Given the description of an element on the screen output the (x, y) to click on. 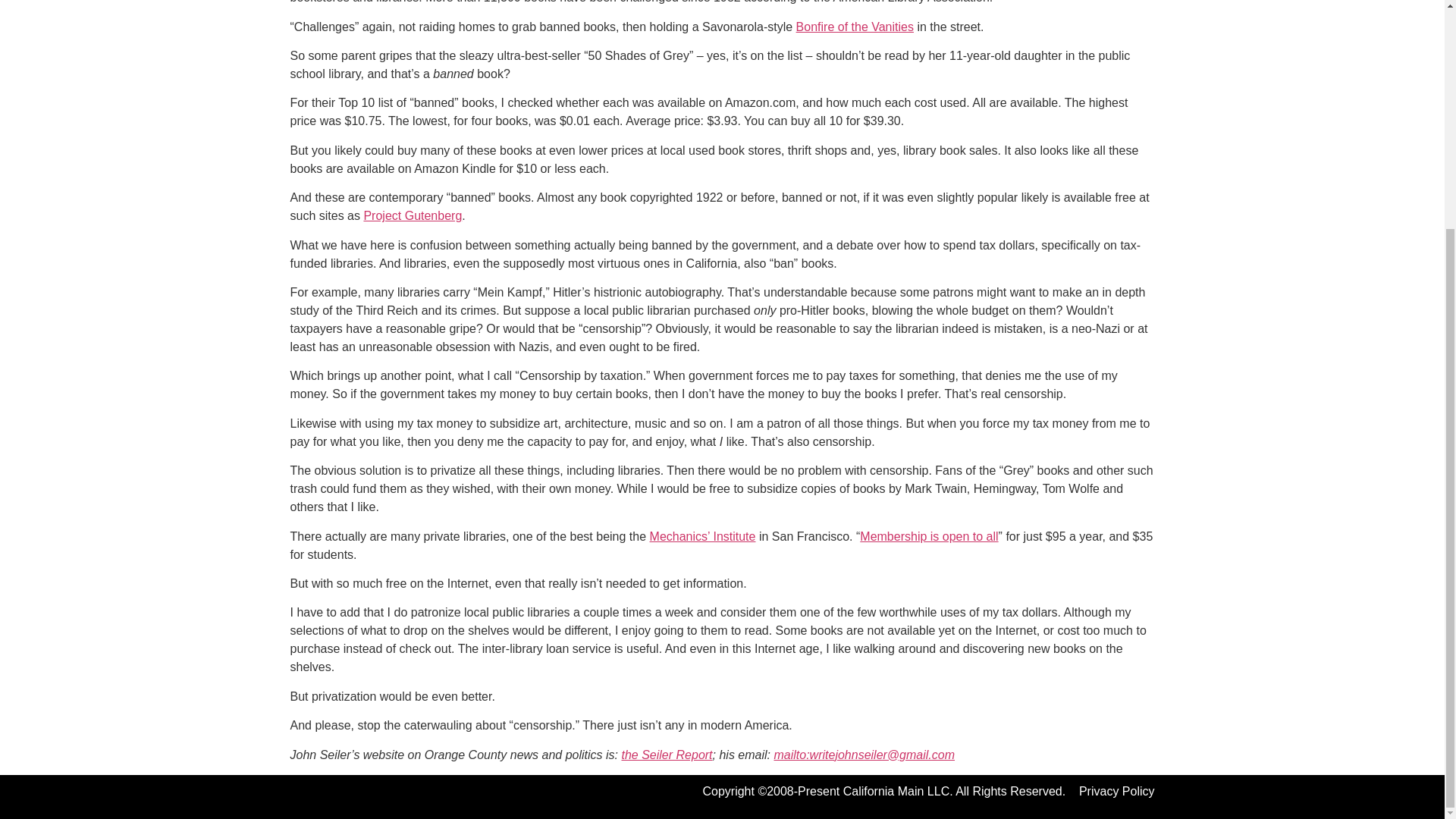
Bonfire of the Vanities (855, 26)
Project Gutenberg (411, 215)
Membership is open to all (928, 535)
the Seiler Report (666, 754)
Privacy Policy (1116, 790)
